Given the description of an element on the screen output the (x, y) to click on. 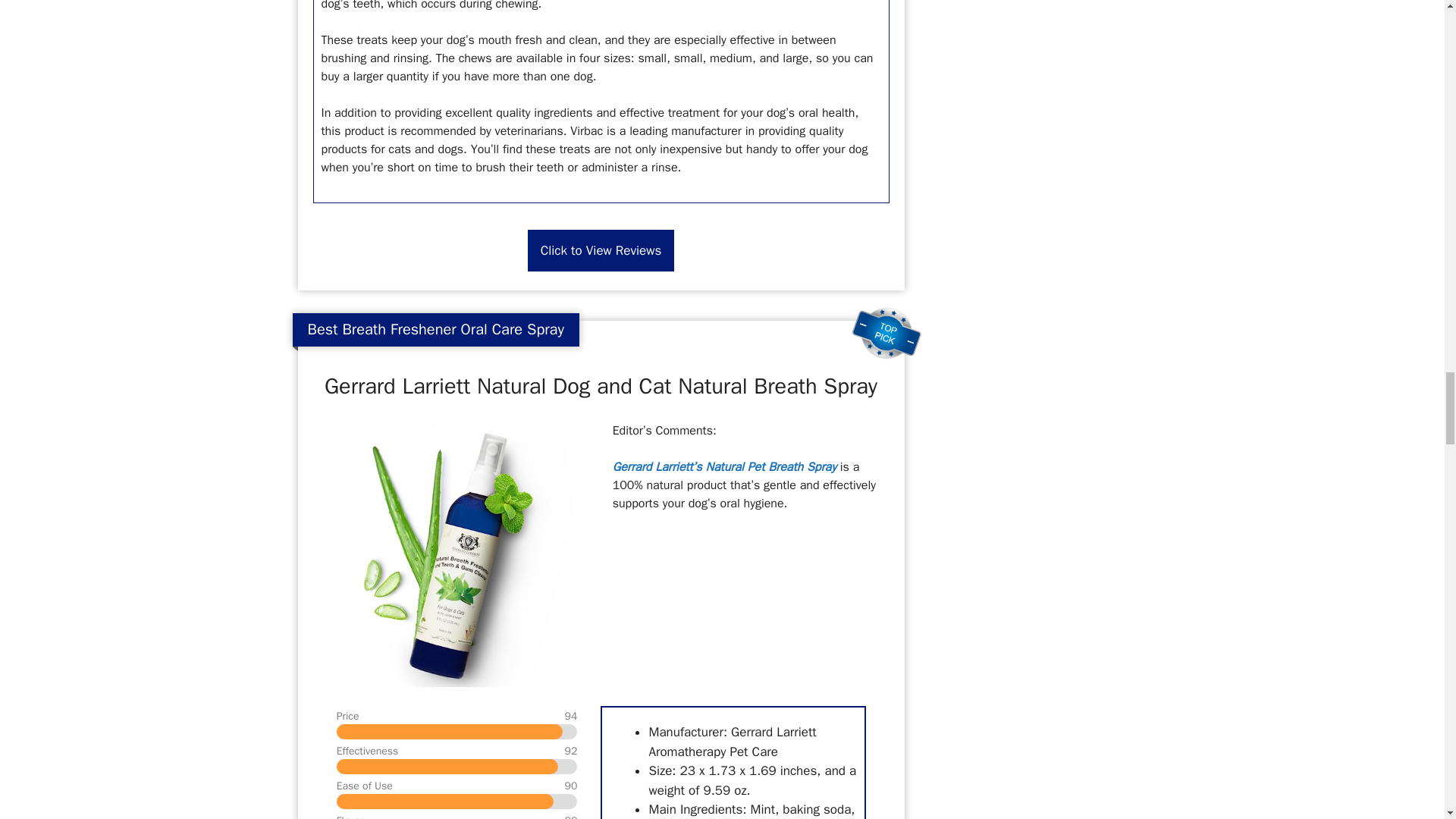
Click to View Reviews (601, 250)
